Given the description of an element on the screen output the (x, y) to click on. 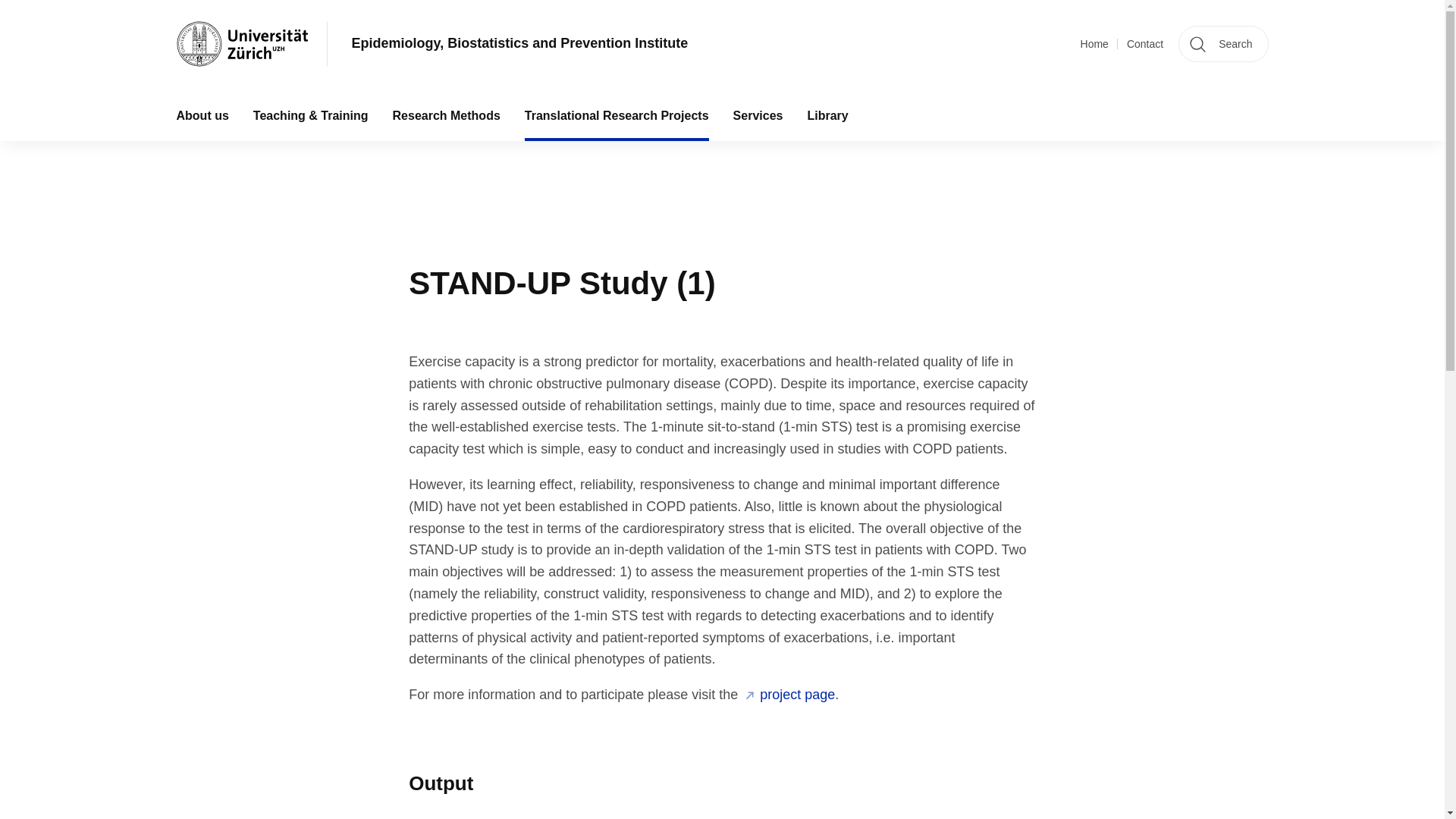
Home (1094, 44)
Contact (1144, 44)
Search (1222, 43)
Epidemiology, Biostatistics and Prevention Institute (520, 43)
About us (201, 115)
